Given the description of an element on the screen output the (x, y) to click on. 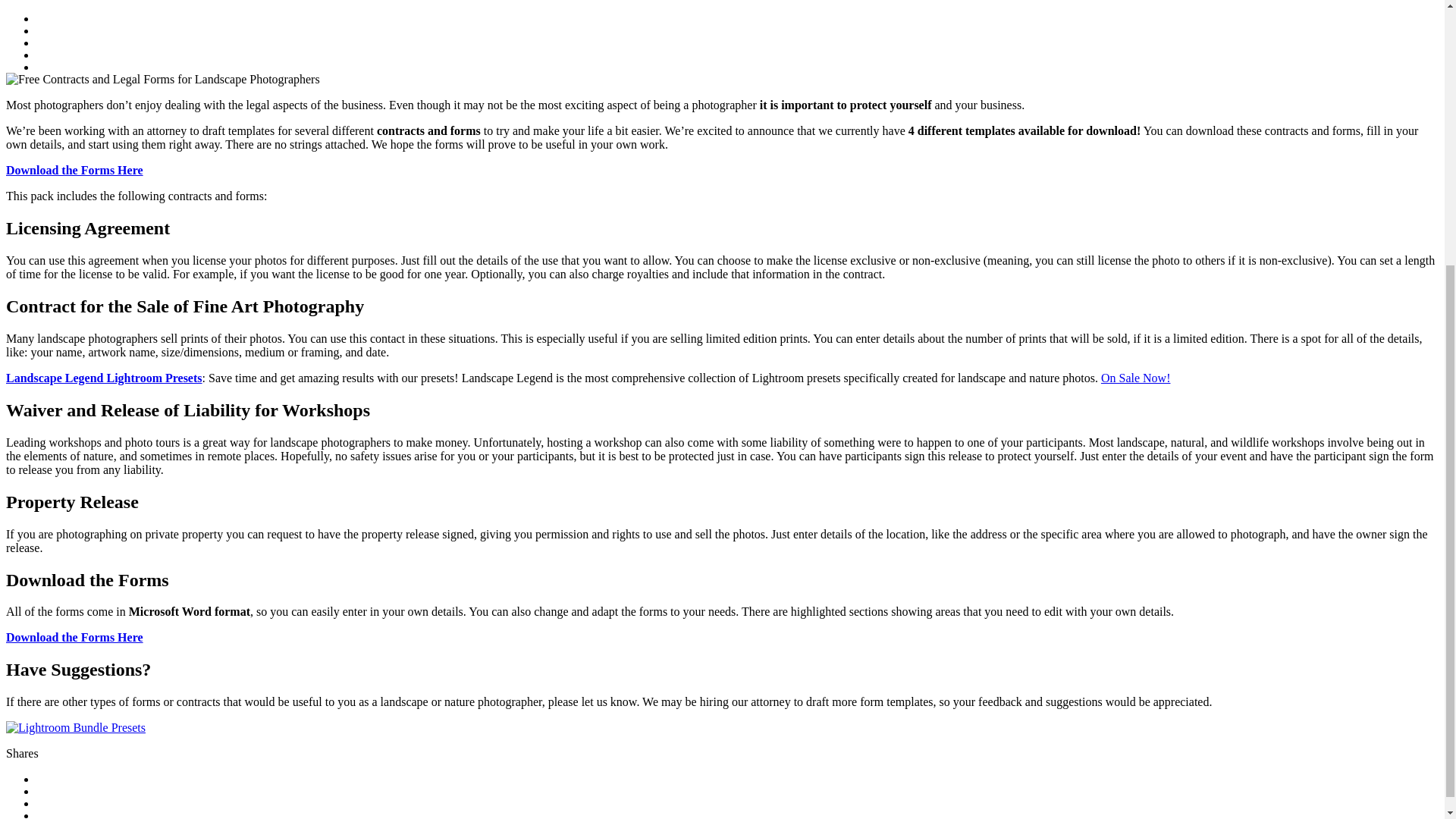
Download the Forms Here (73, 169)
On Sale Now! (1135, 377)
Download the Forms Here (73, 636)
Landscape Legend Lightroom Presets (103, 377)
